Given the description of an element on the screen output the (x, y) to click on. 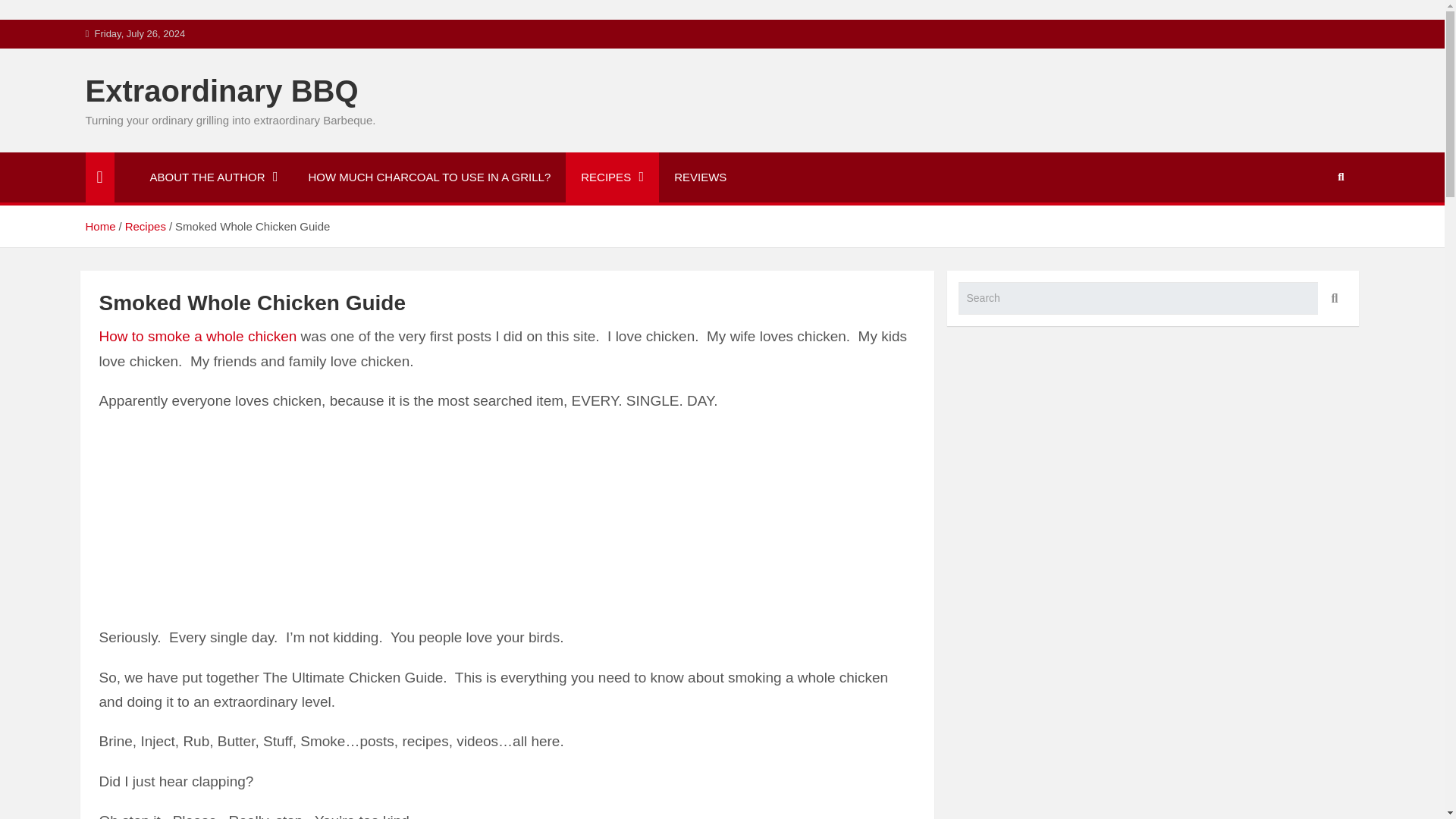
Extraordinary BBQ (221, 90)
Recipes (145, 226)
ABOUT THE AUTHOR (214, 177)
Home (99, 226)
REVIEWS (700, 177)
RECIPES (612, 177)
How to smoke a whole chicken (198, 335)
HOW MUCH CHARCOAL TO USE IN A GRILL? (429, 177)
